Given the description of an element on the screen output the (x, y) to click on. 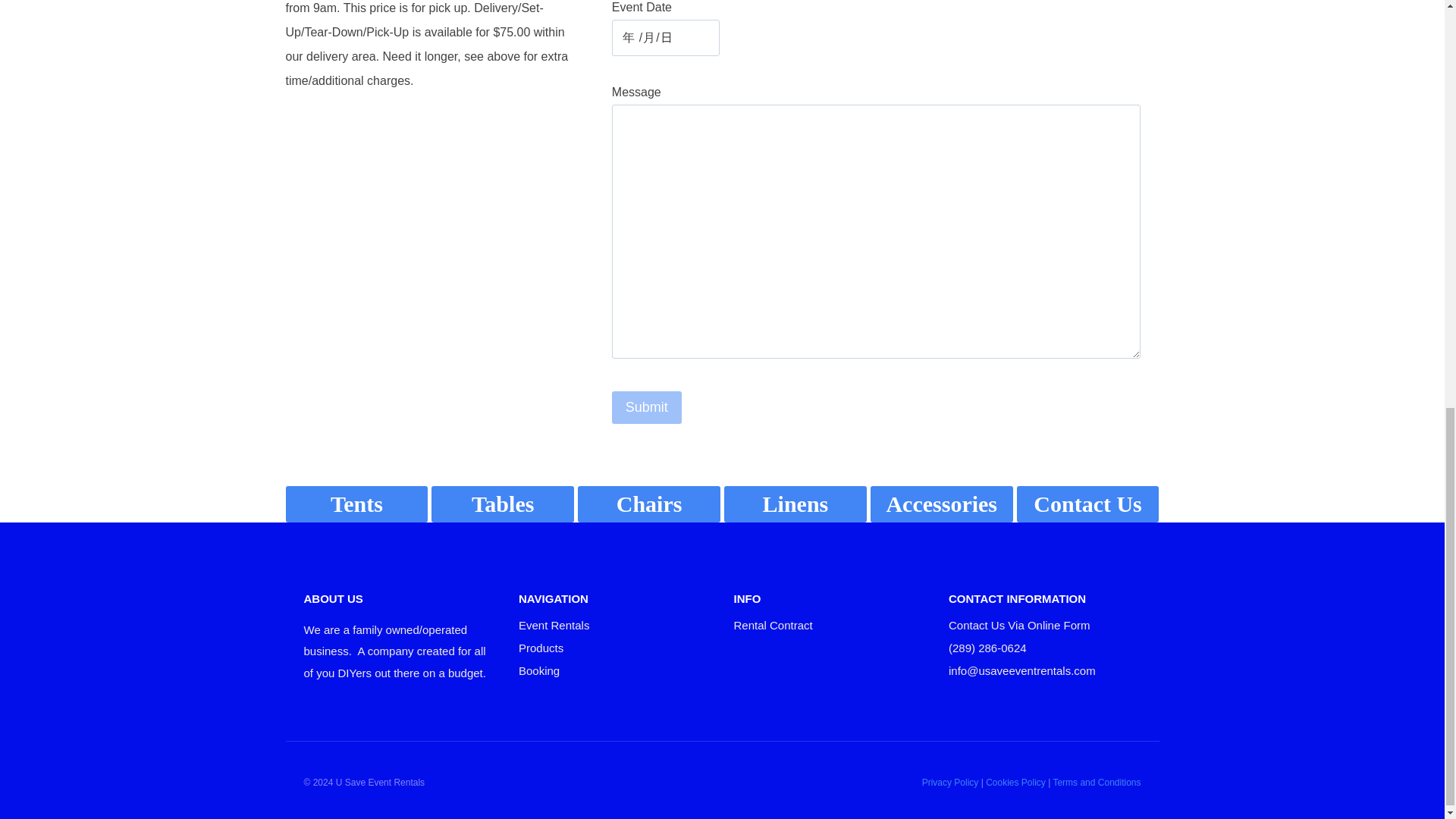
Submit (646, 407)
